Given the description of an element on the screen output the (x, y) to click on. 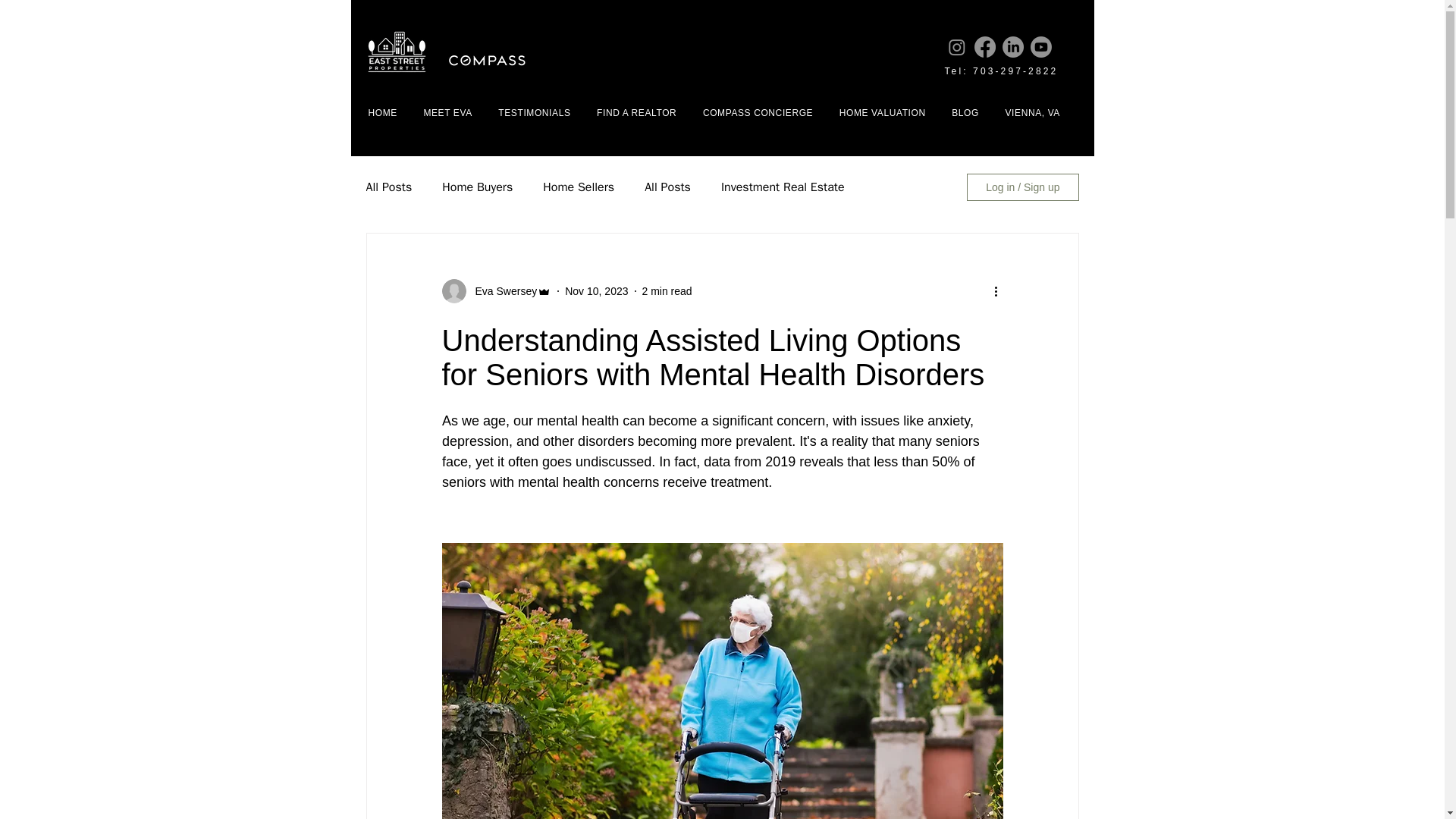
HOME (389, 113)
BLOG (972, 113)
Eva  Swersey (501, 291)
TESTIMONIALS (542, 113)
HOME VALUATION (890, 113)
All Posts (667, 186)
Nov 10, 2023 (595, 291)
east-street.png (395, 53)
Home Sellers (578, 186)
2 min read (666, 291)
Home Buyers (477, 186)
Investment Real Estate (782, 186)
MEET EVA (455, 113)
VIENNA, VA (1039, 113)
